Given the description of an element on the screen output the (x, y) to click on. 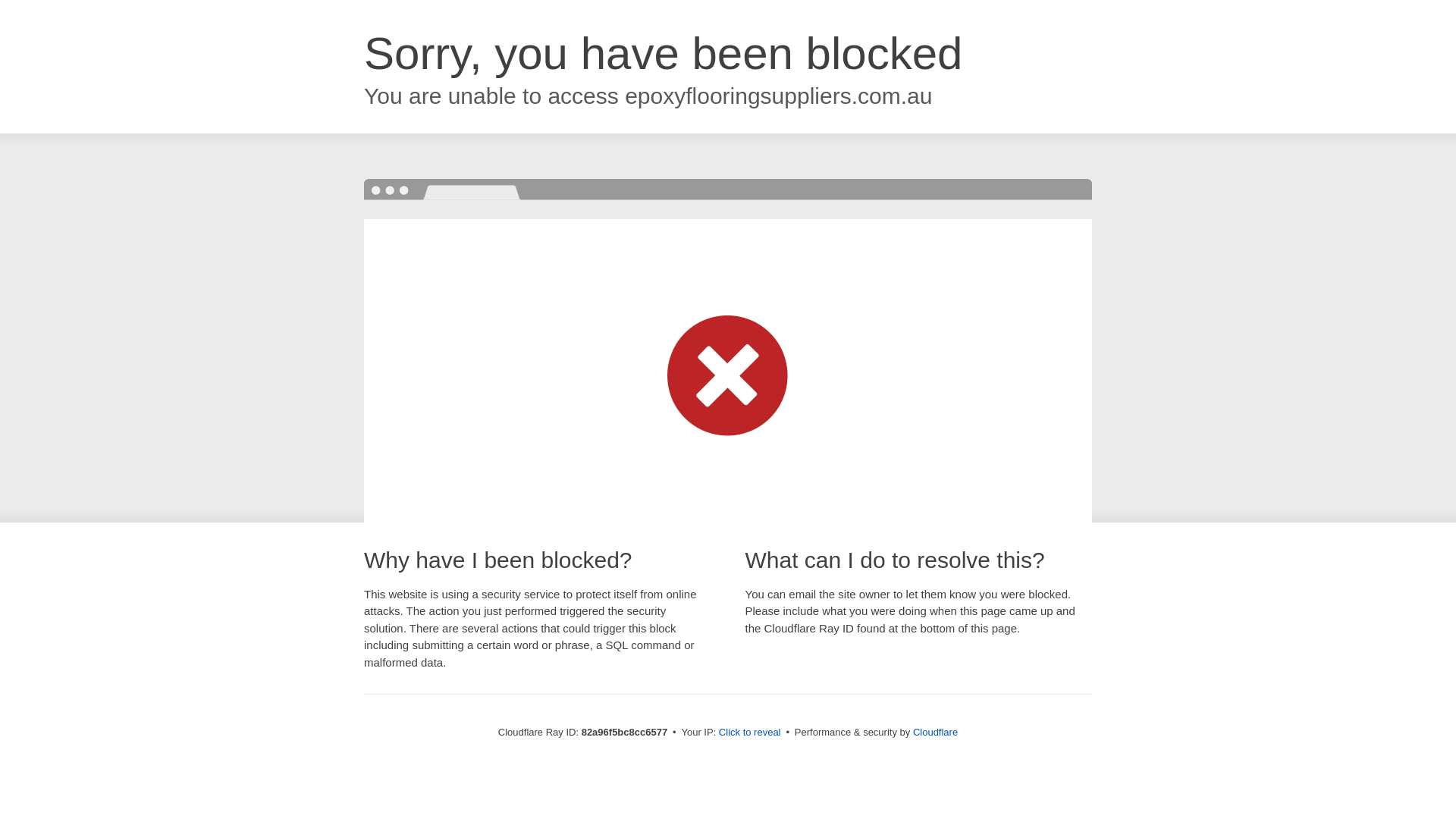
Click to reveal Element type: text (749, 732)
Cloudflare Element type: text (935, 731)
